Given the description of an element on the screen output the (x, y) to click on. 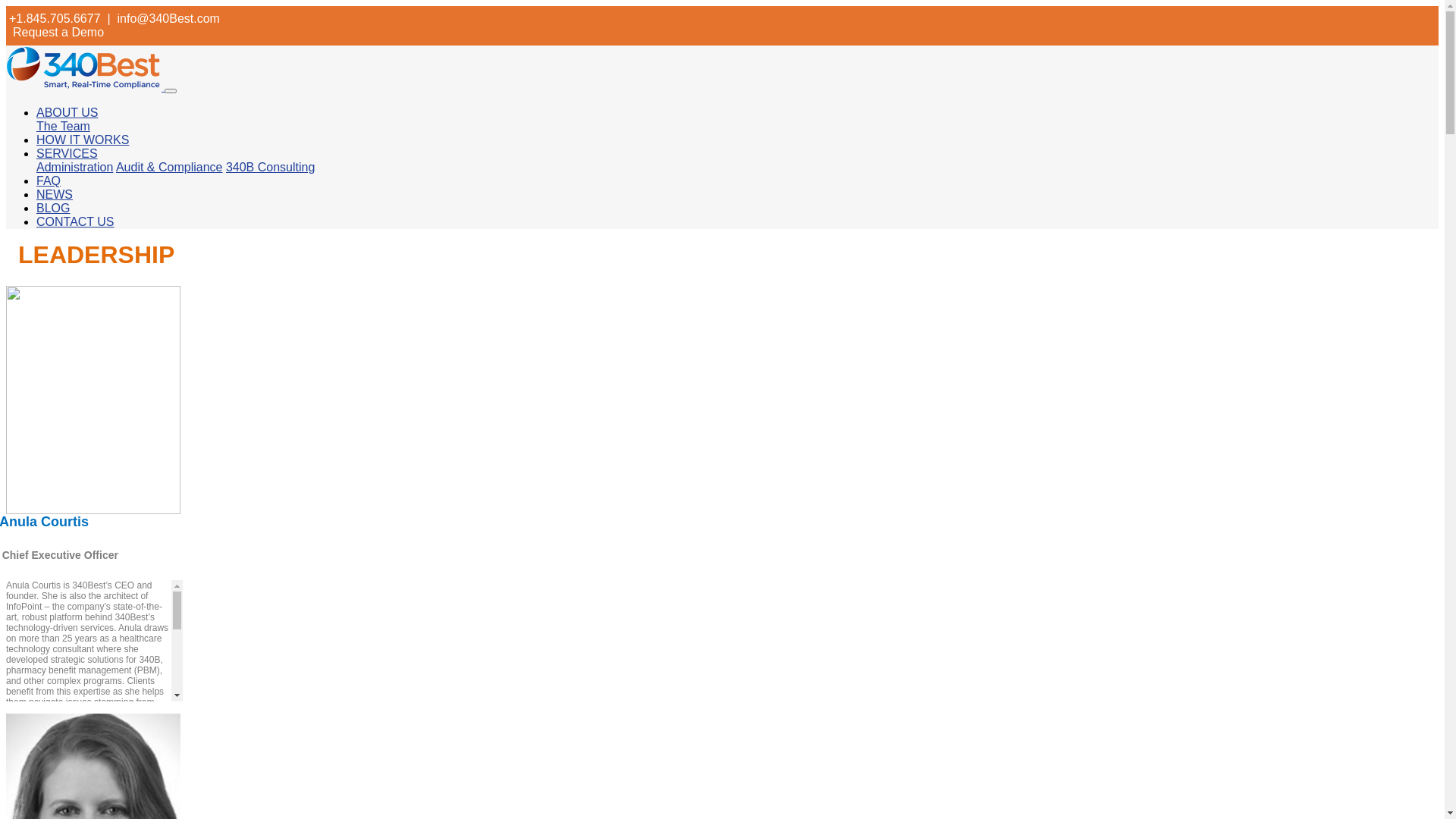
info@340Best.com Element type: text (167, 18)
340B Consulting Element type: text (269, 166)
ABOUT US Element type: text (67, 112)
SERVICES Element type: text (66, 153)
FAQ Element type: text (48, 180)
Audit & Compliance Element type: text (169, 166)
BLOG Element type: text (52, 207)
CONTACT US Element type: text (75, 221)
HOW IT WORKS Element type: text (82, 139)
The Team Element type: text (63, 125)
Request a Demo Element type: text (57, 31)
NEWS Element type: text (54, 194)
Administration Element type: text (74, 166)
